Given the description of an element on the screen output the (x, y) to click on. 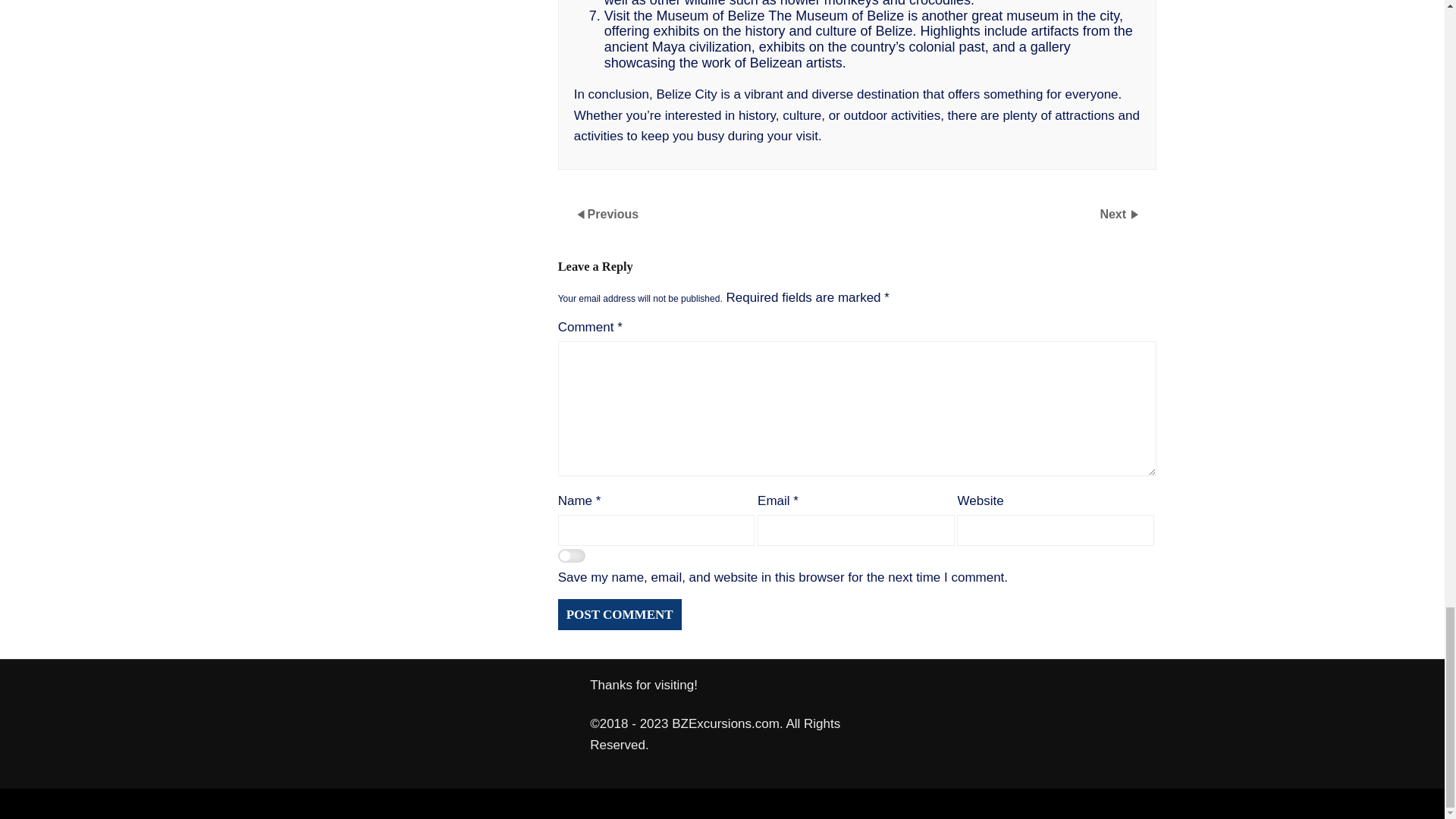
Post Comment (619, 614)
yes (571, 556)
Post Comment (619, 614)
Next (1114, 214)
Previous (613, 214)
